Given the description of an element on the screen output the (x, y) to click on. 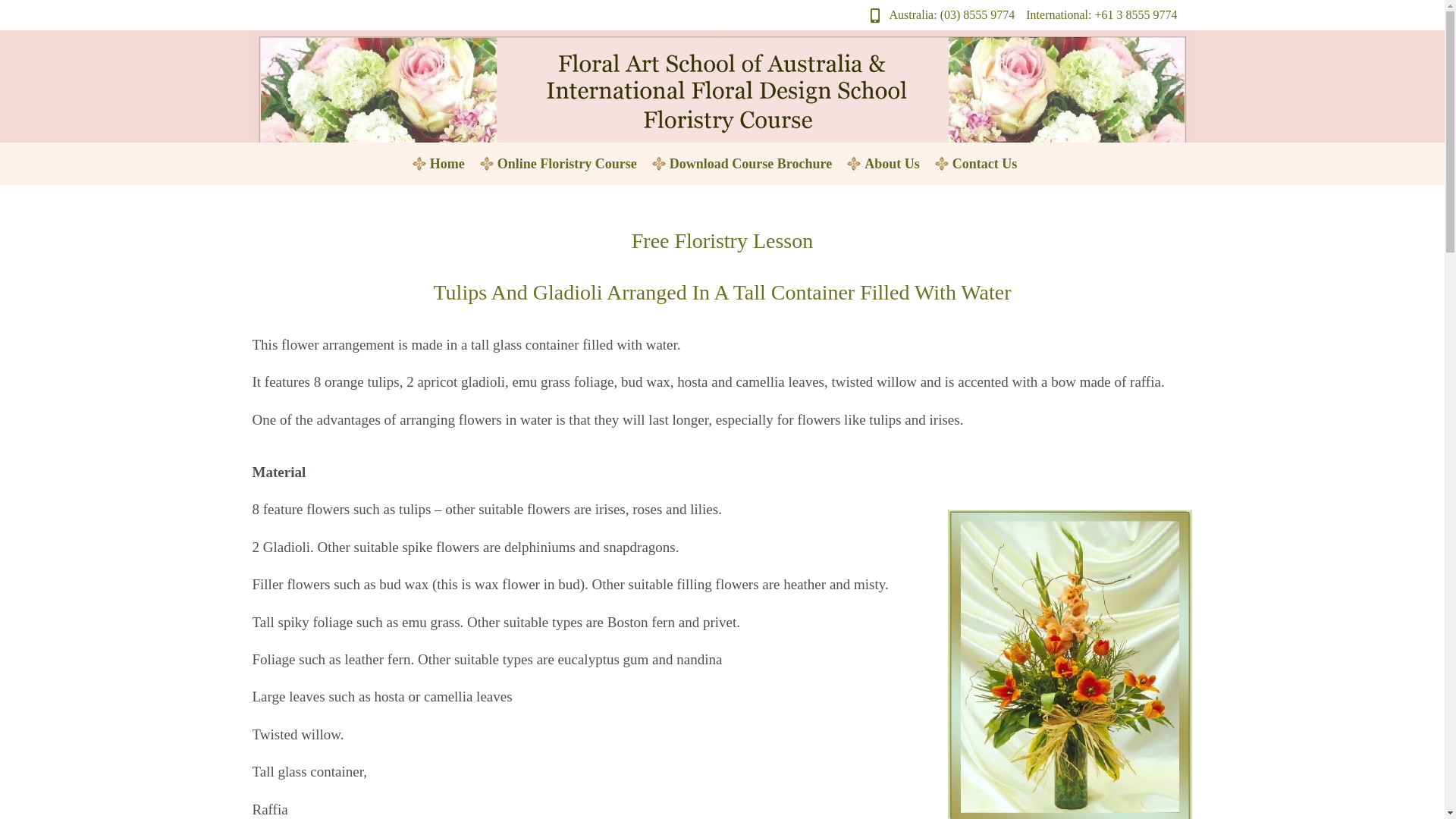
Home Element type: text (447, 163)
Australia: (03) 8555 9774 Element type: text (938, 14)
Download Course Brochure Element type: text (750, 163)
Contact Us Element type: text (984, 163)
Online Floristry Course Element type: text (567, 163)
About Us Element type: text (892, 163)
International: +61 3 8555 9774 Element type: text (1101, 14)
